Given the description of an element on the screen output the (x, y) to click on. 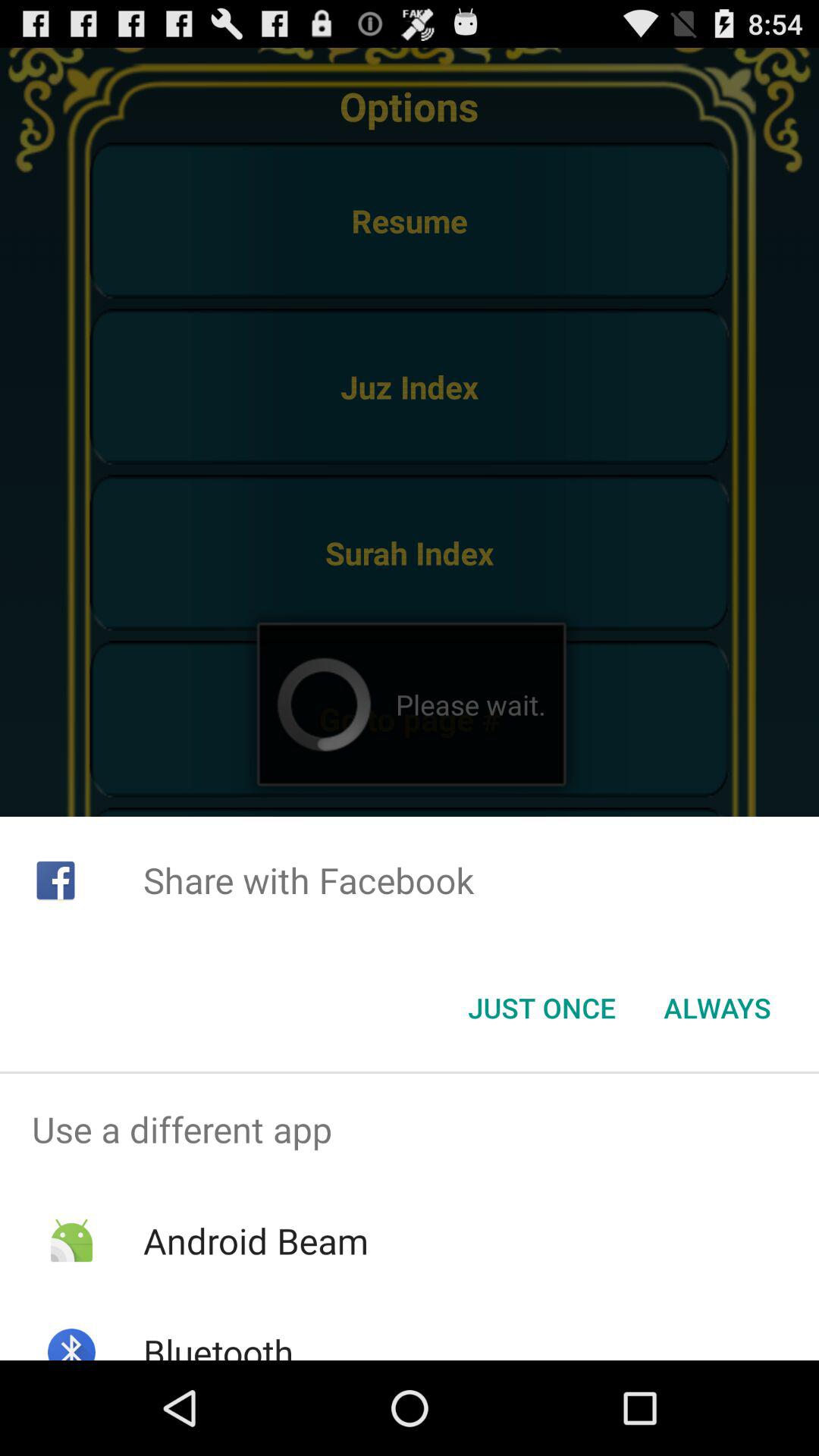
select android beam icon (255, 1240)
